Given the description of an element on the screen output the (x, y) to click on. 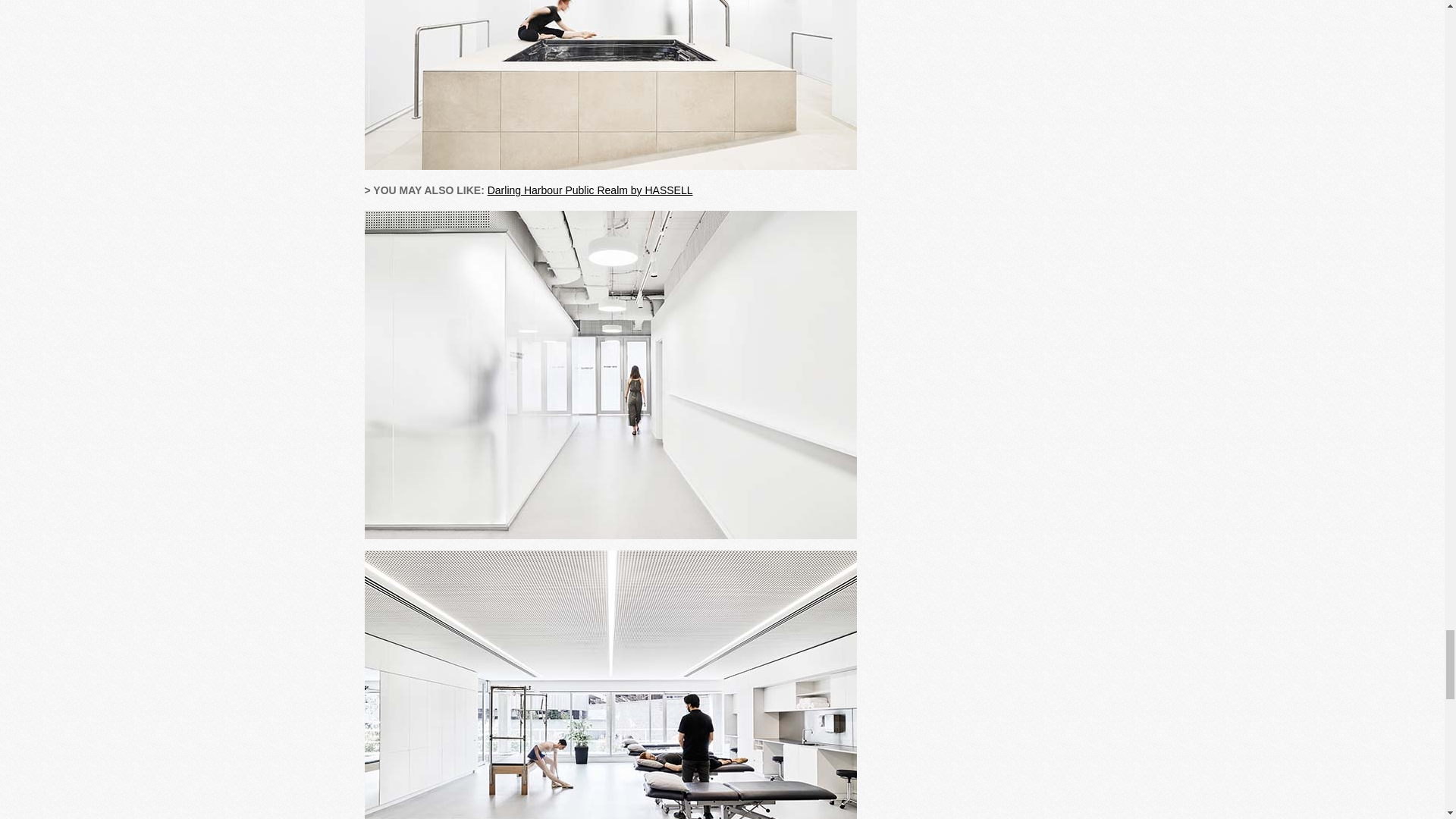
Darling Harbour Public Realm by HASSELL (590, 190)
